Given the description of an element on the screen output the (x, y) to click on. 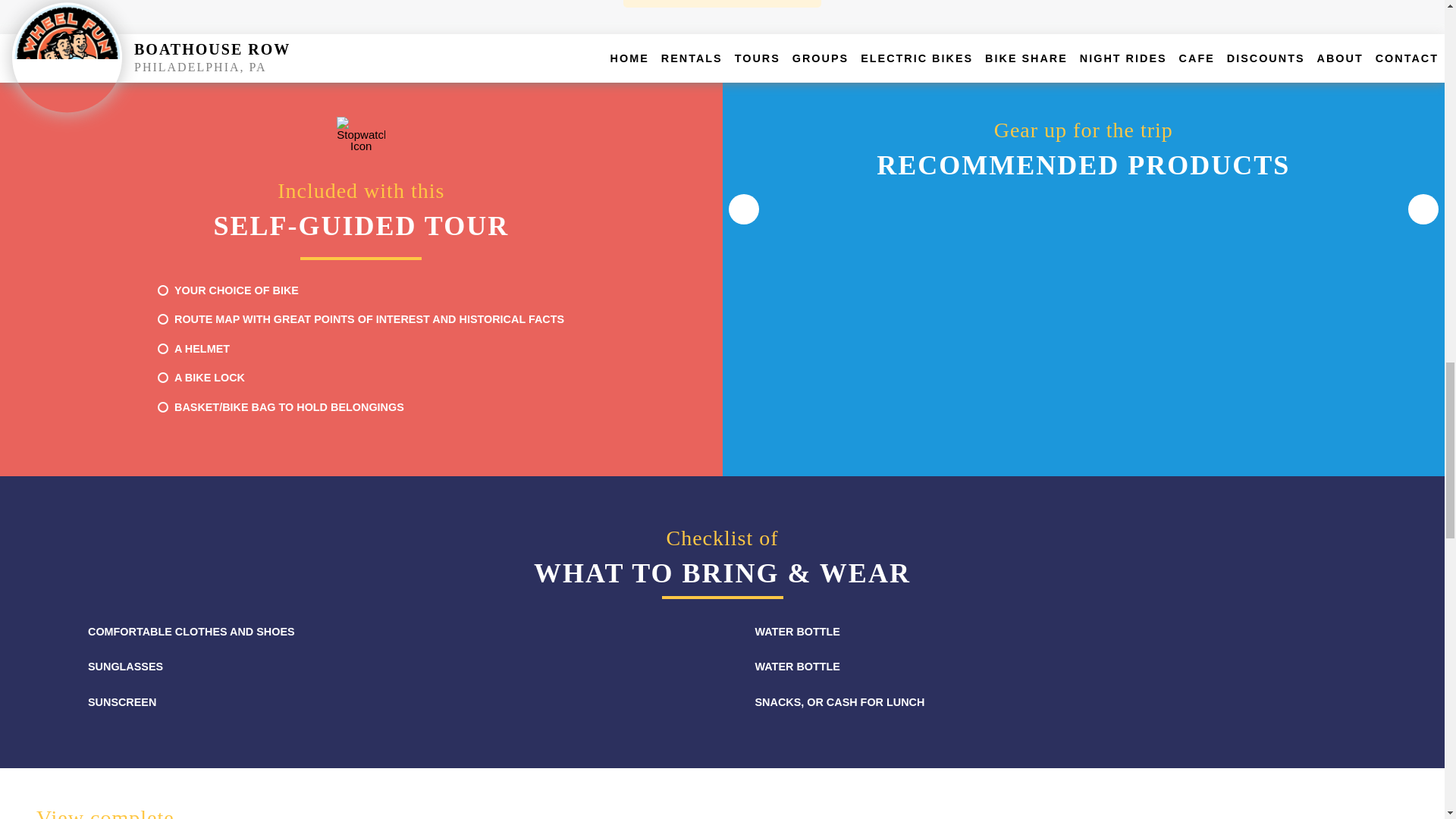
PREVIOUS (743, 193)
